Given the description of an element on the screen output the (x, y) to click on. 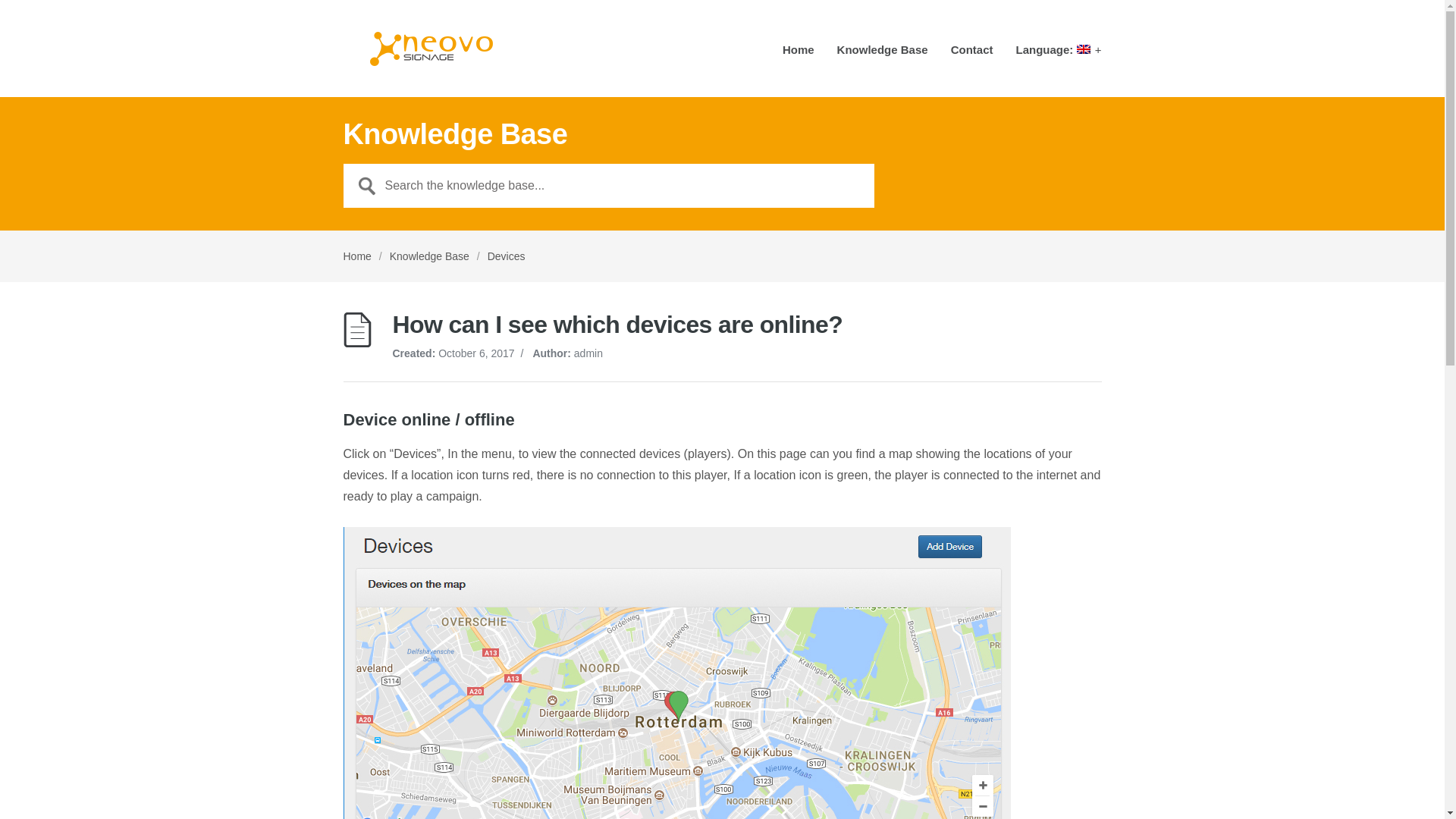
English (1057, 55)
Knowledge Base (882, 55)
Contact (971, 55)
Knowledge Base (429, 256)
Devices (506, 256)
Home (356, 256)
Home (798, 55)
Support Neovo Signage (430, 48)
Search the knowledge base... (607, 185)
